Given the description of an element on the screen output the (x, y) to click on. 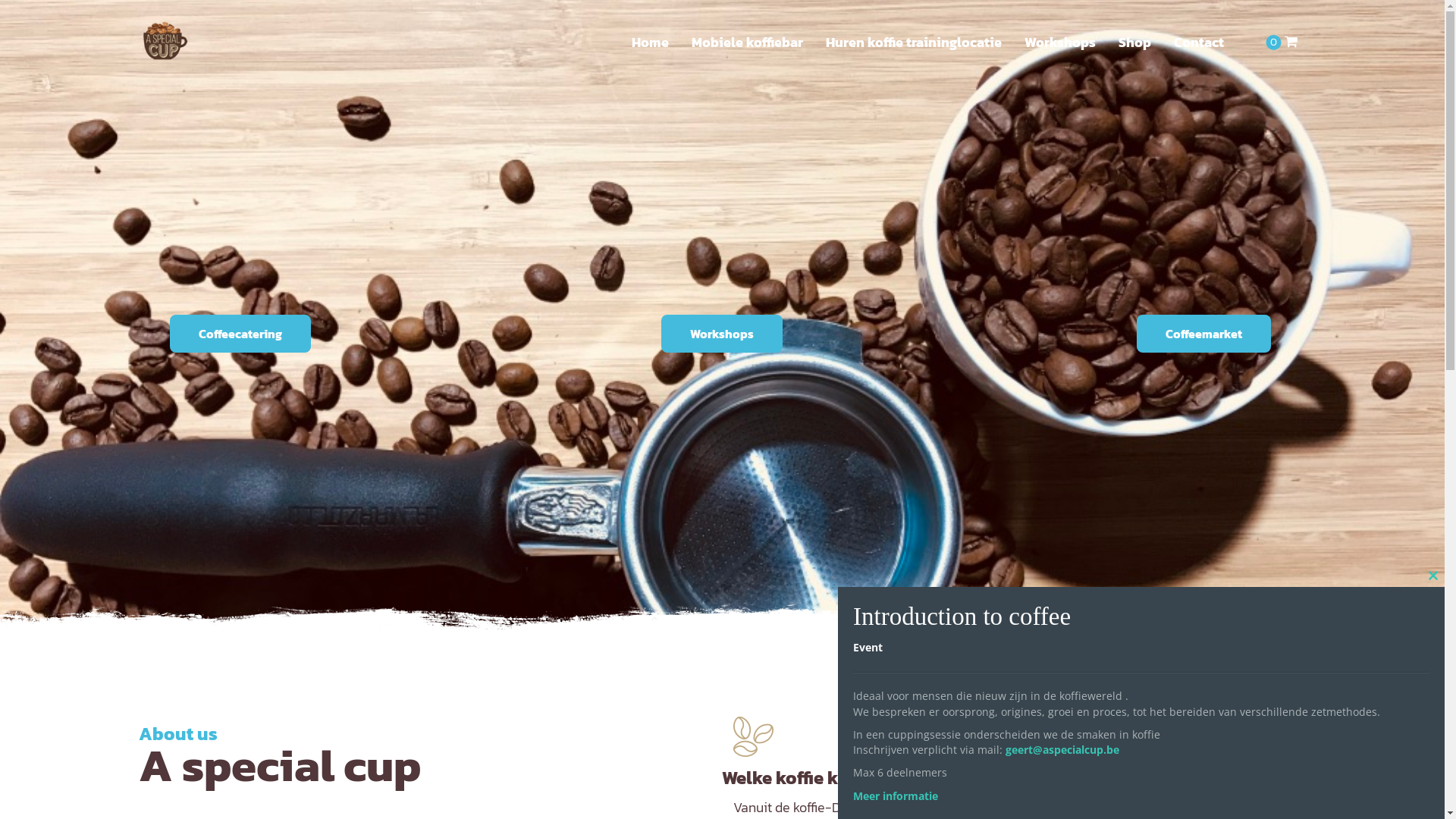
Workshops Element type: text (1060, 34)
Huren koffie traininglocatie Element type: text (913, 34)
0 Element type: text (1288, 37)
Coffeemarket Element type: text (1203, 333)
Home Element type: text (650, 34)
Meer informatie Element type: text (895, 795)
Contact Element type: text (1197, 34)
Shop Element type: text (1134, 34)
Workshops Element type: text (721, 333)
Close this module Element type: text (1432, 575)
Mobiele koffiebar Element type: text (746, 34)
Coffeecatering Element type: text (239, 333)
geert@aspecialcup.be Element type: text (1062, 749)
